Given the description of an element on the screen output the (x, y) to click on. 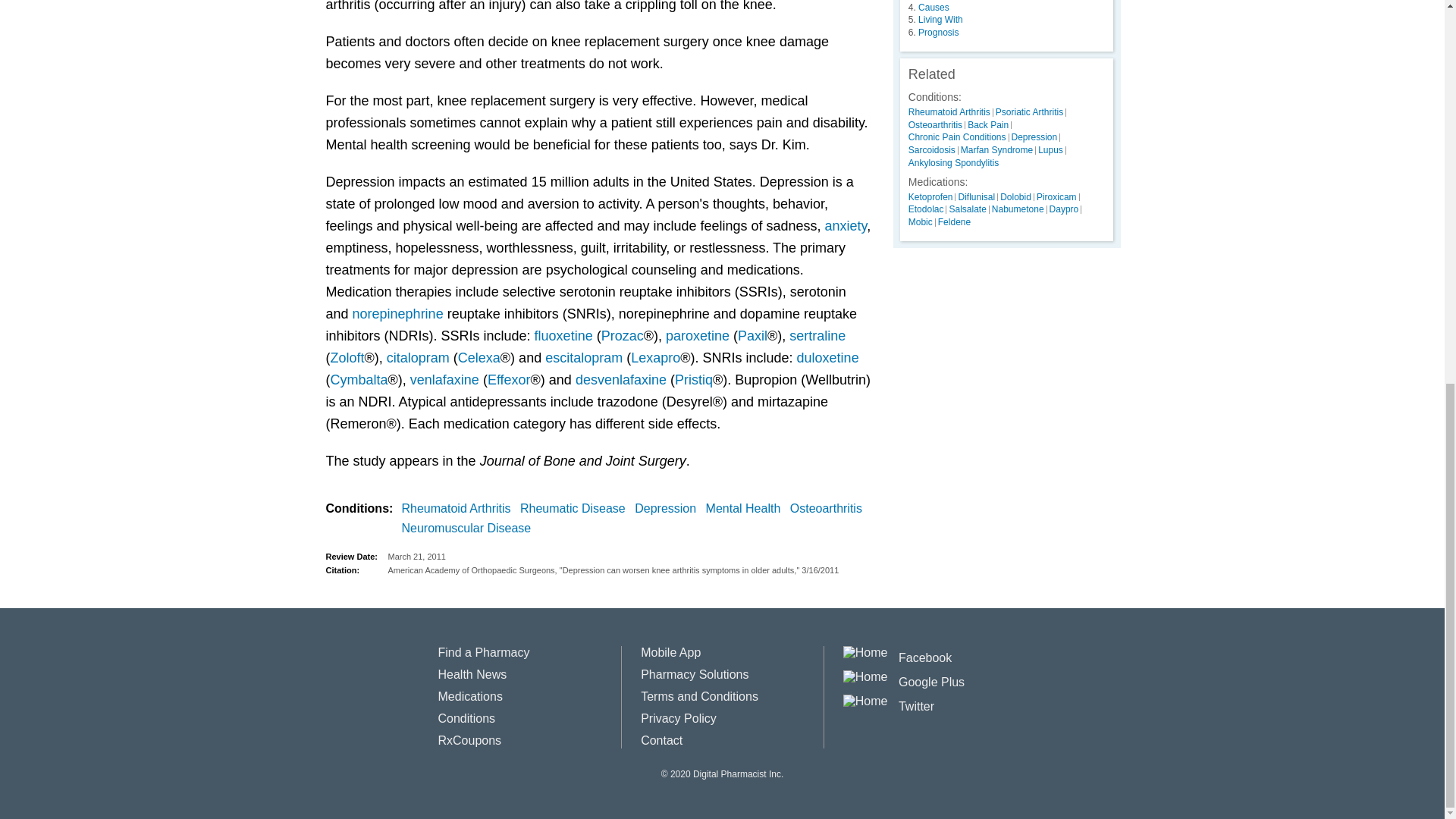
Effexor (509, 379)
citalopram (418, 357)
fluoxetine (563, 335)
Zoloft (347, 357)
Celexa (479, 357)
venlafaxine (444, 379)
duloxetine (827, 357)
sertraline (817, 335)
Prozac (622, 335)
anxiety (846, 225)
